Given the description of an element on the screen output the (x, y) to click on. 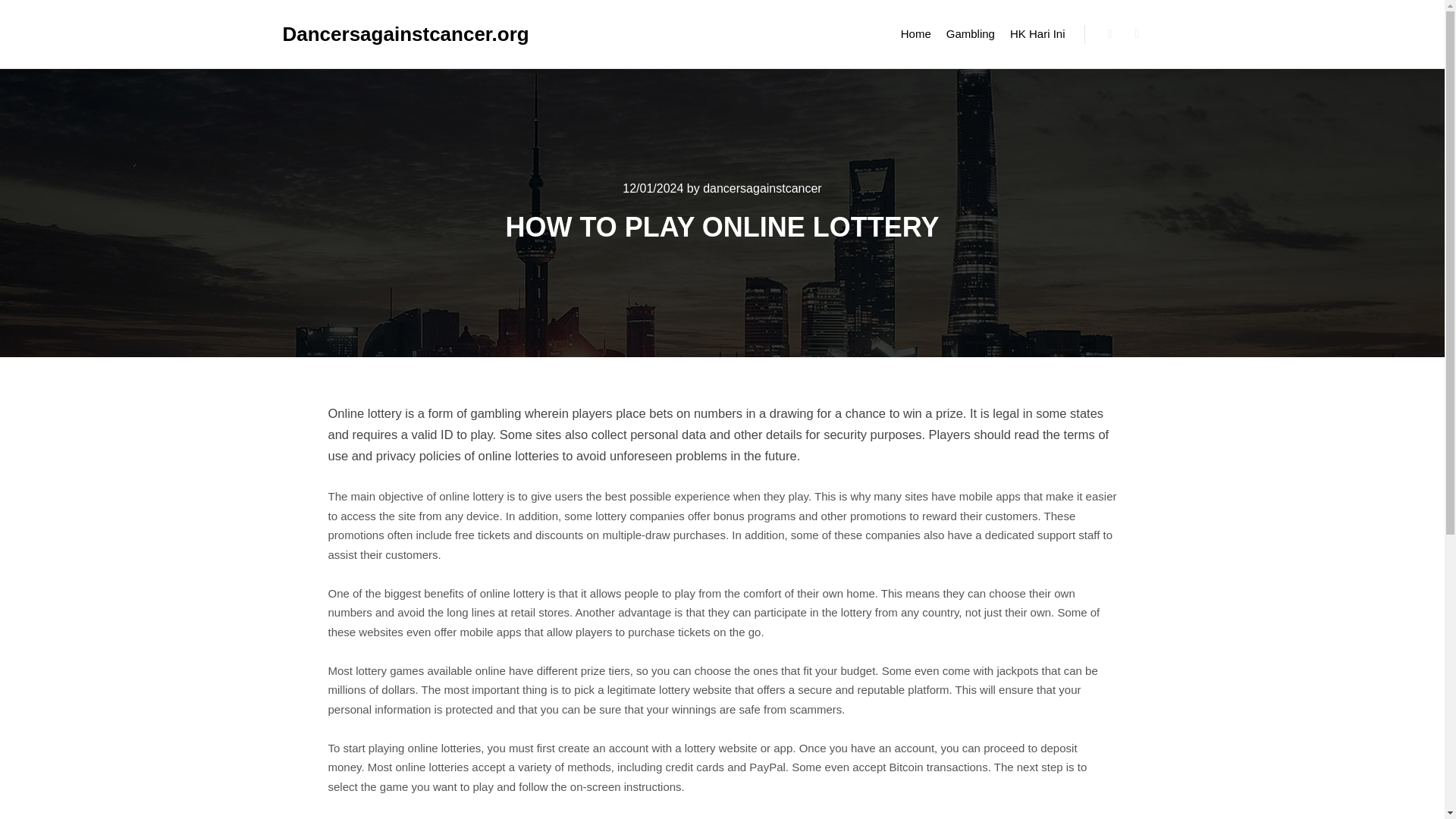
Gambling (971, 33)
View all posts by dancersagainstcancer (762, 187)
HK Hari Ini (1038, 33)
dancersagainstcancer (762, 187)
Dancersagainstcancer.org (357, 33)
More info (1137, 34)
Search (1110, 34)
Search (1110, 34)
Dancersagainstcancer.org (357, 33)
More info (1137, 34)
